Given the description of an element on the screen output the (x, y) to click on. 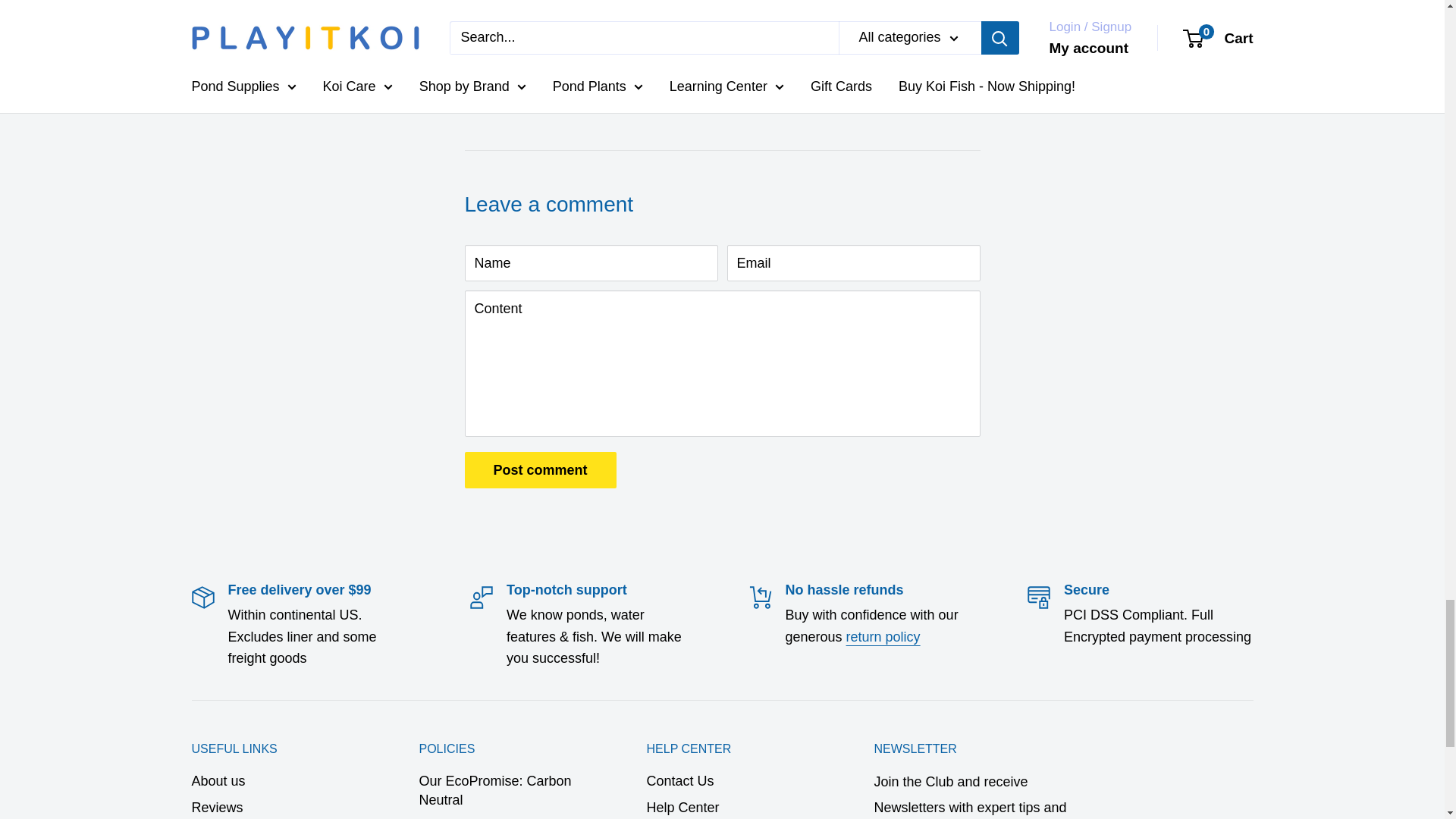
Refund Policy (882, 636)
